Given the description of an element on the screen output the (x, y) to click on. 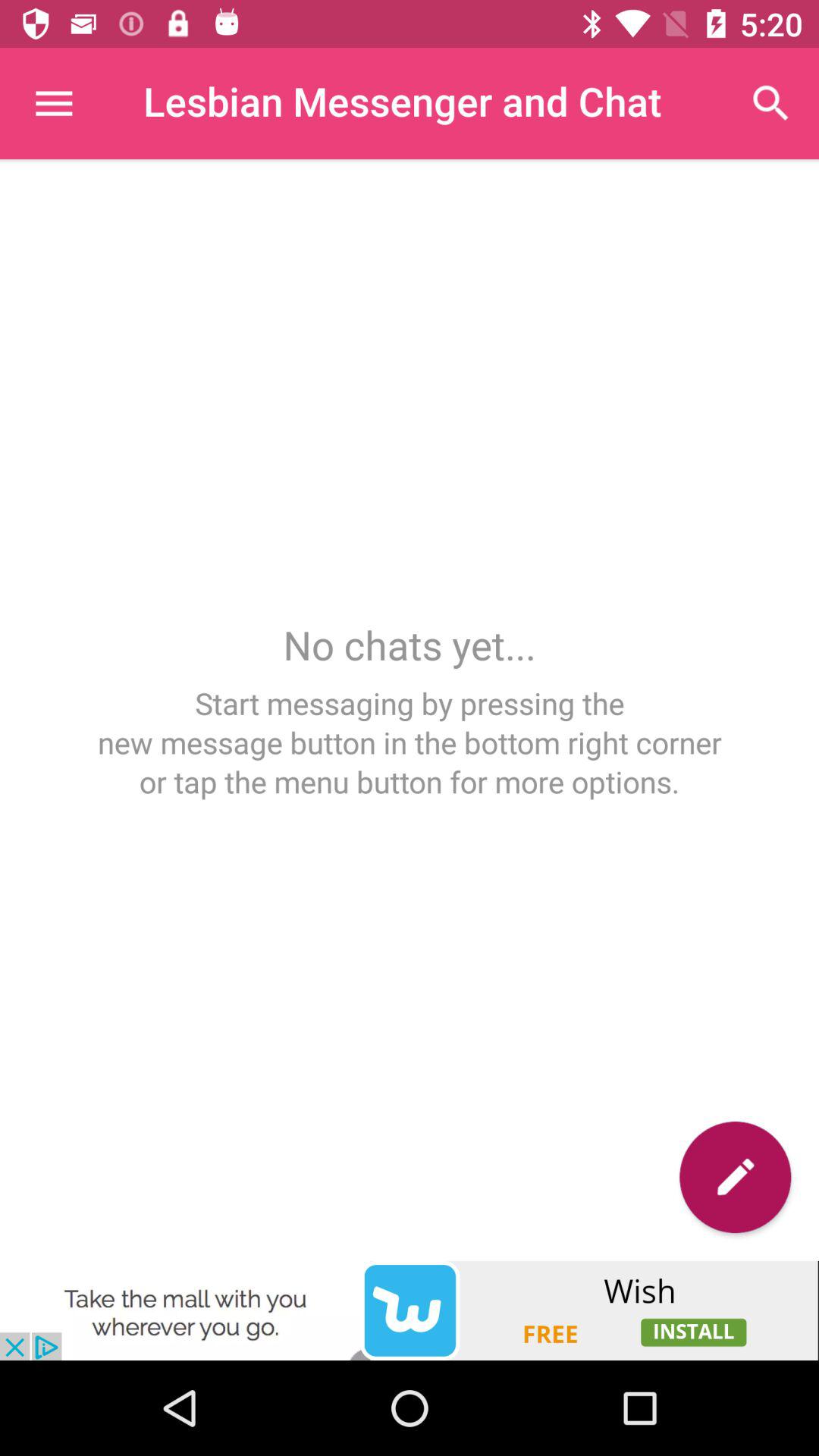
view the main menu (53, 103)
